Given the description of an element on the screen output the (x, y) to click on. 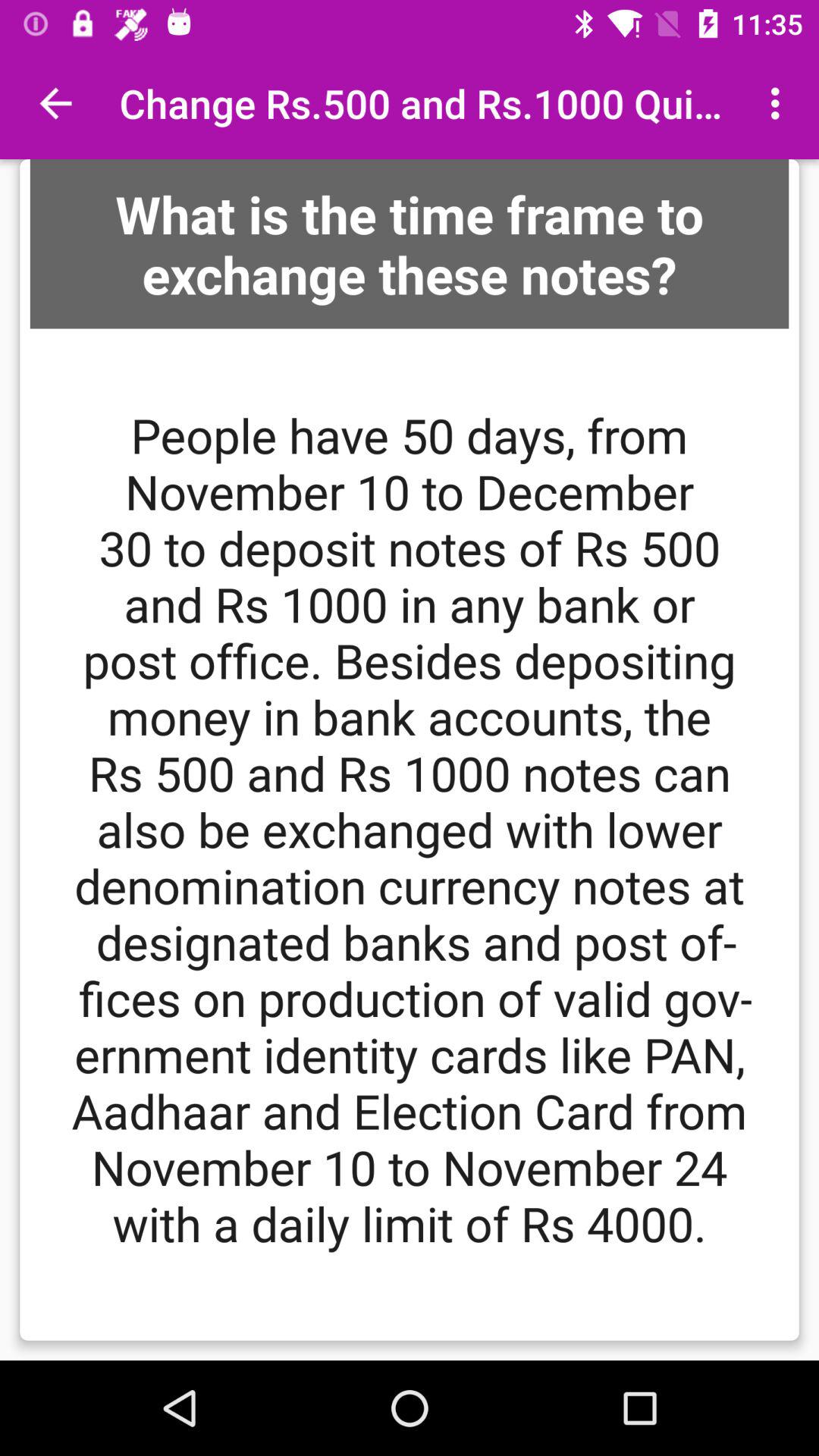
open icon to the right of the change rs 500 item (779, 103)
